Given the description of an element on the screen output the (x, y) to click on. 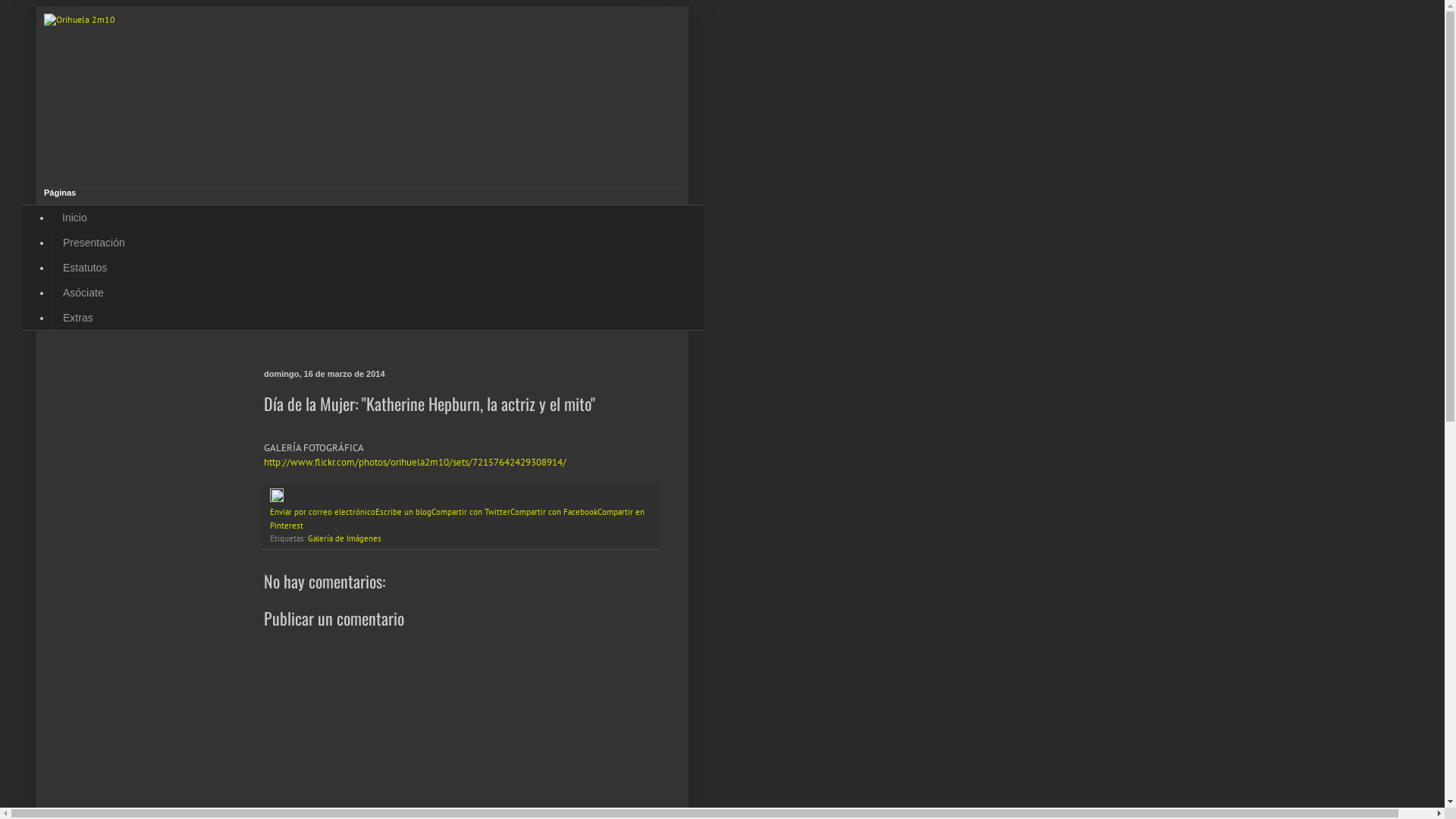
Compartir con Twitter Element type: text (470, 511)
Estatutos Element type: text (84, 267)
Inicio Element type: text (74, 217)
Editar entrada Element type: hover (276, 498)
Extras Element type: text (77, 316)
Compartir con Facebook Element type: text (553, 511)
Compartir en Pinterest Element type: text (456, 518)
Escribe un blog Element type: text (403, 511)
